Given the description of an element on the screen output the (x, y) to click on. 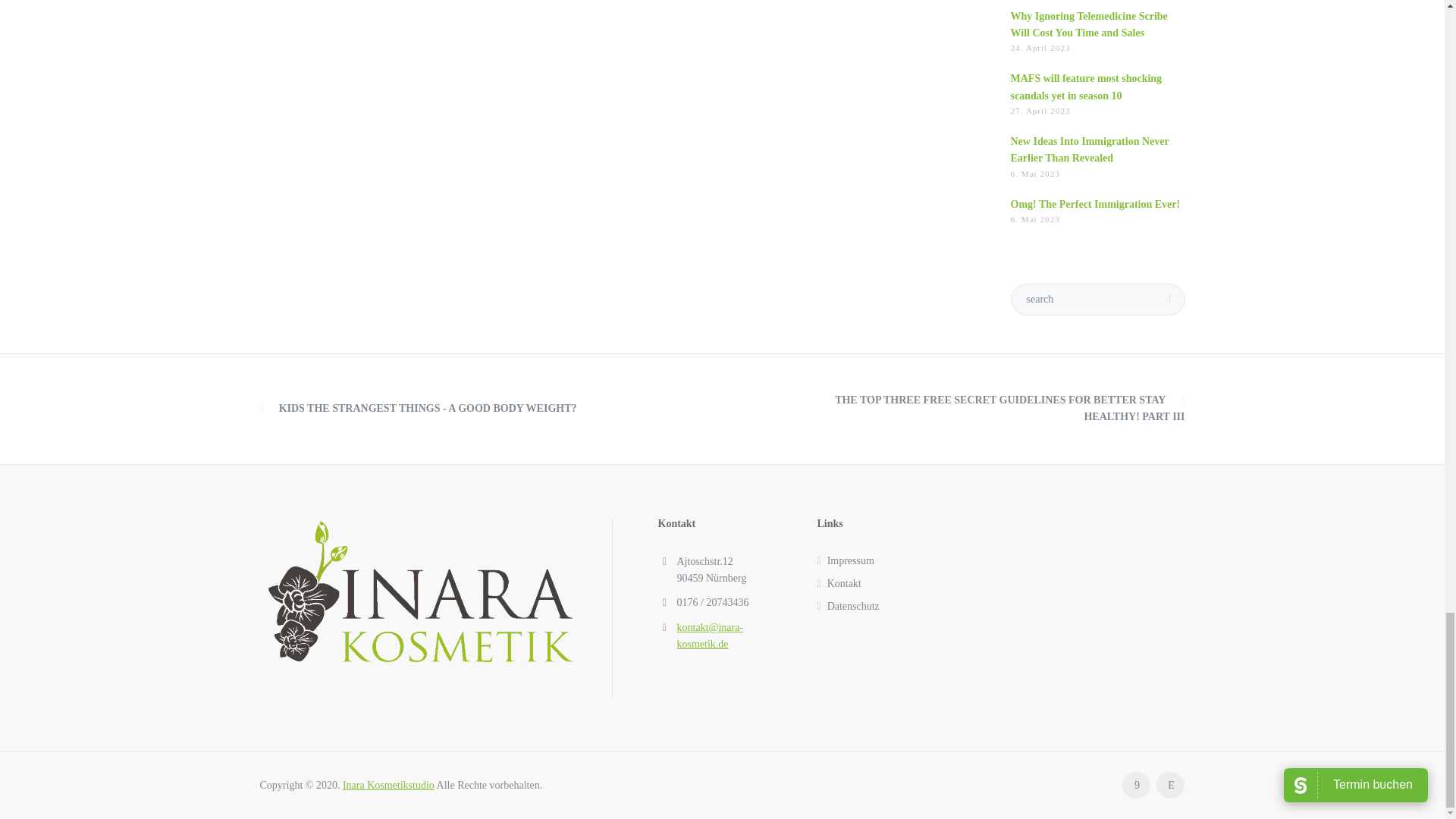
MAFS will feature most shocking scandals yet in season 10 (1085, 86)
